Given the description of an element on the screen output the (x, y) to click on. 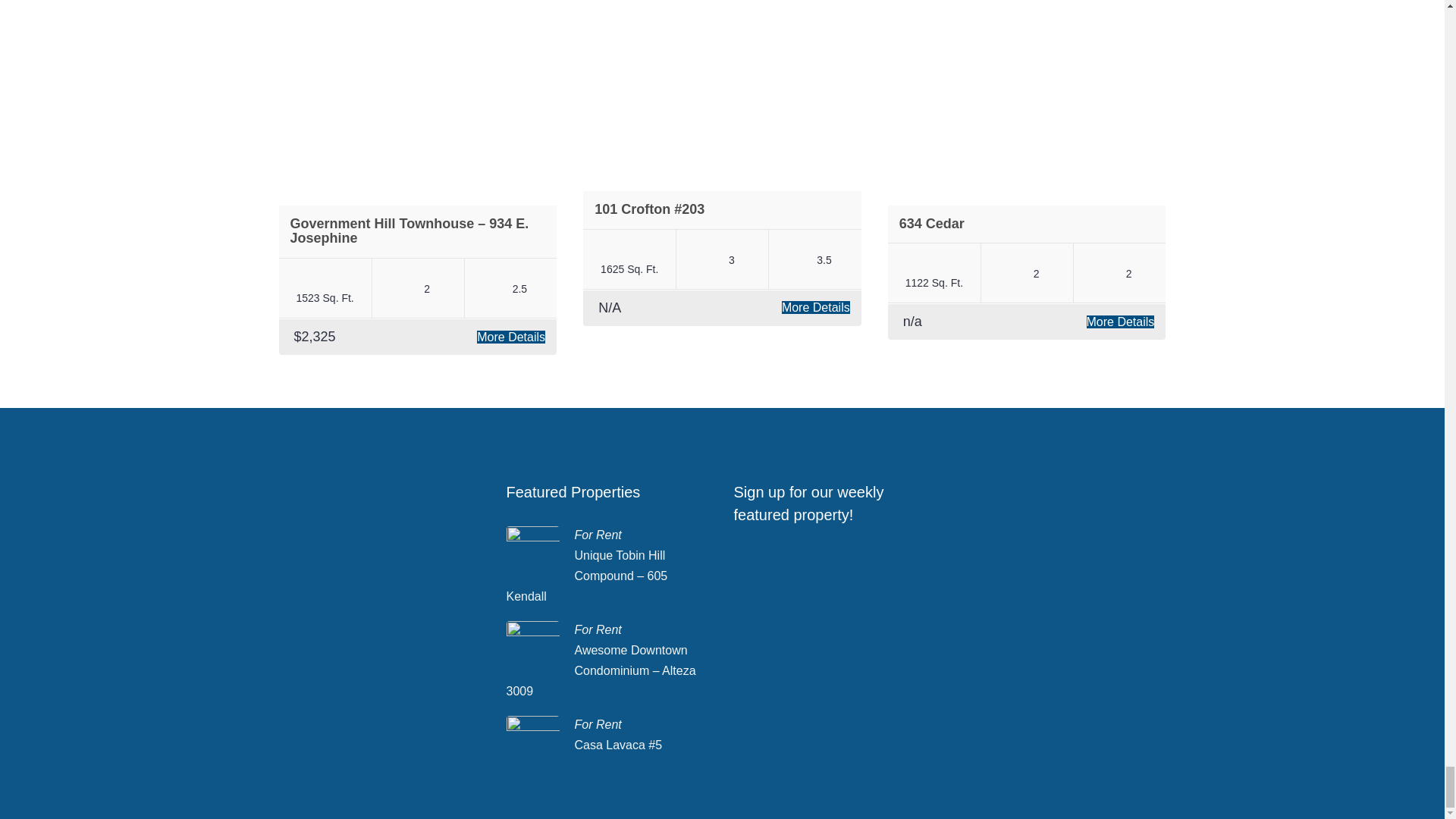
634 Cedar (931, 223)
